Given the description of an element on the screen output the (x, y) to click on. 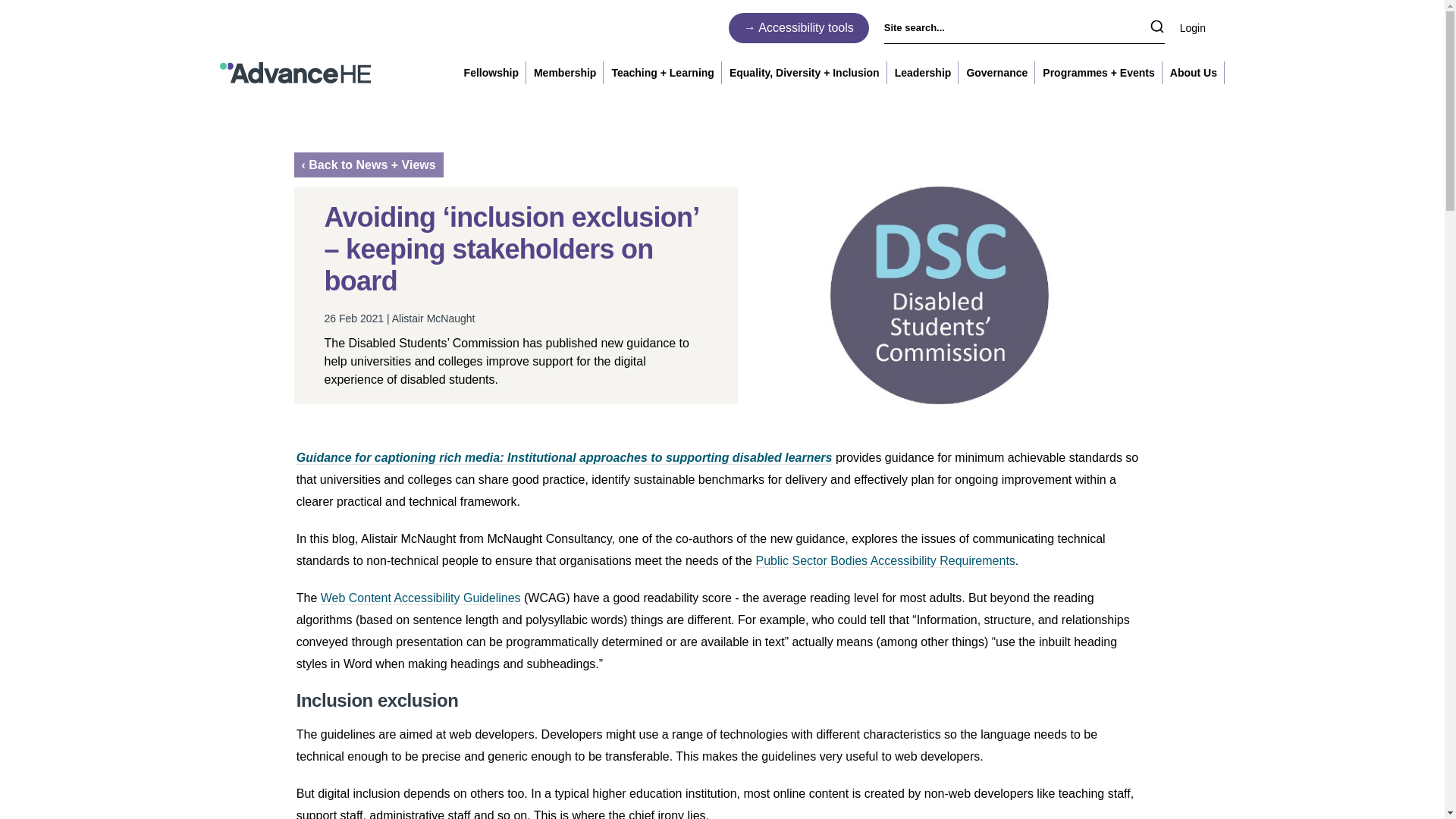
Fellowship (491, 72)
Membership (564, 72)
Accessibility tools (799, 27)
Login (1201, 27)
Submit (1156, 26)
Click to activate accessibility tools (799, 27)
